Given the description of an element on the screen output the (x, y) to click on. 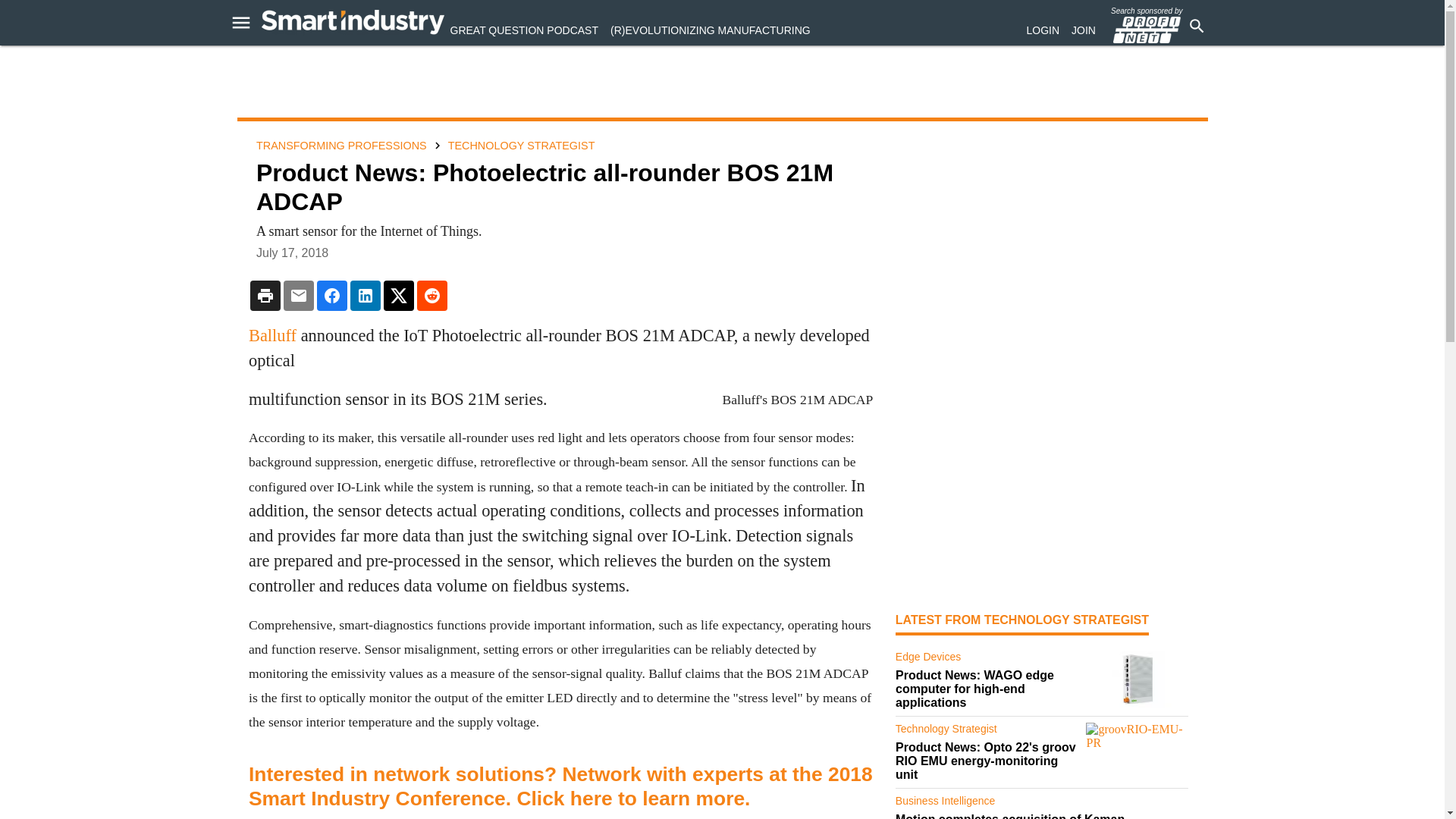
groovRIO-EMU-PR (1137, 750)
wago-edge-friday (1137, 678)
LOGIN (1042, 30)
JOIN (1083, 30)
GREAT QUESTION PODCAST (523, 30)
